Given the description of an element on the screen output the (x, y) to click on. 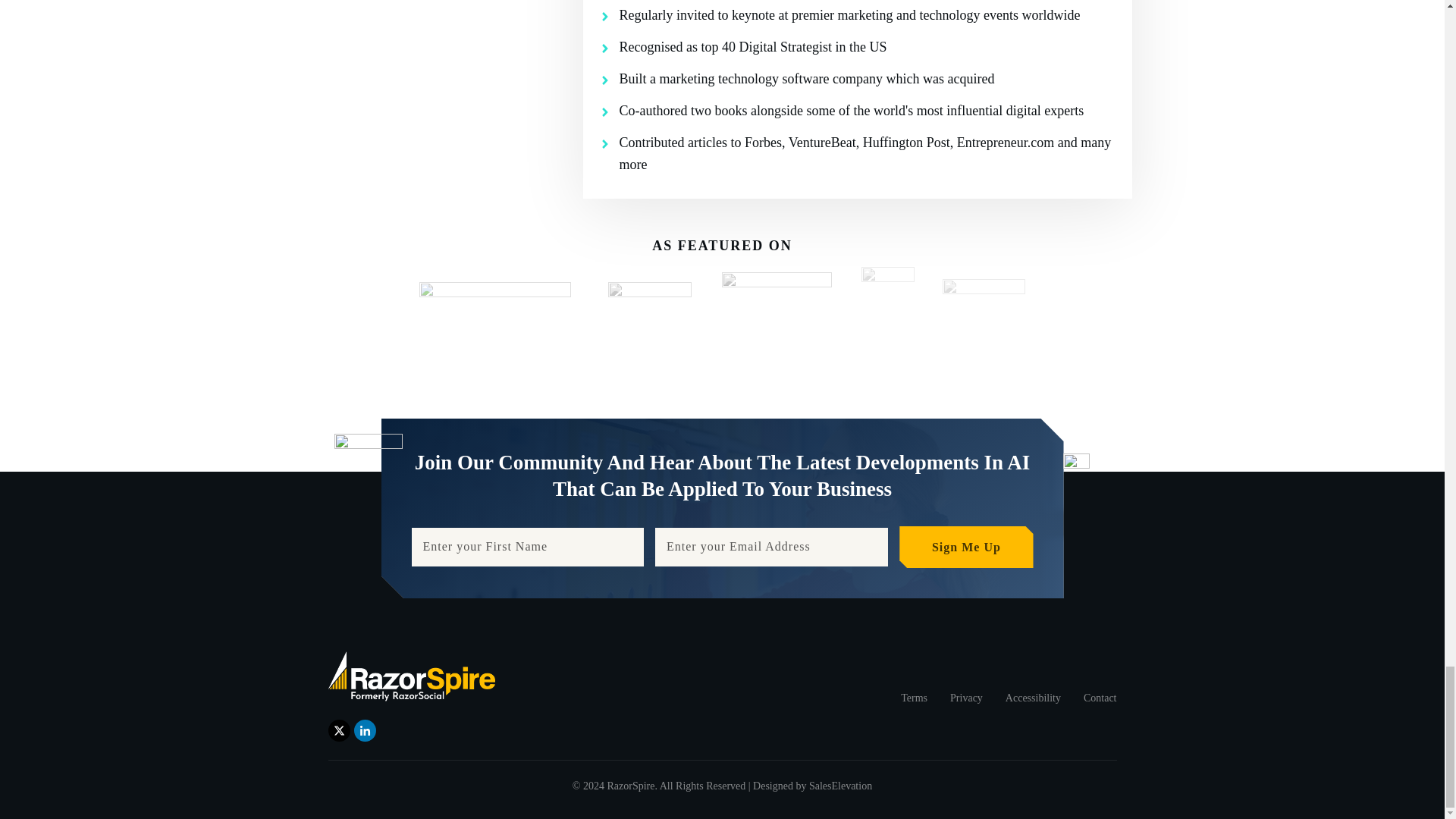
Privacy (966, 697)
Accessibility (1033, 697)
Sign Me Up (965, 547)
Contact (1099, 697)
Terms (914, 697)
SalesElevation (840, 785)
